Given the description of an element on the screen output the (x, y) to click on. 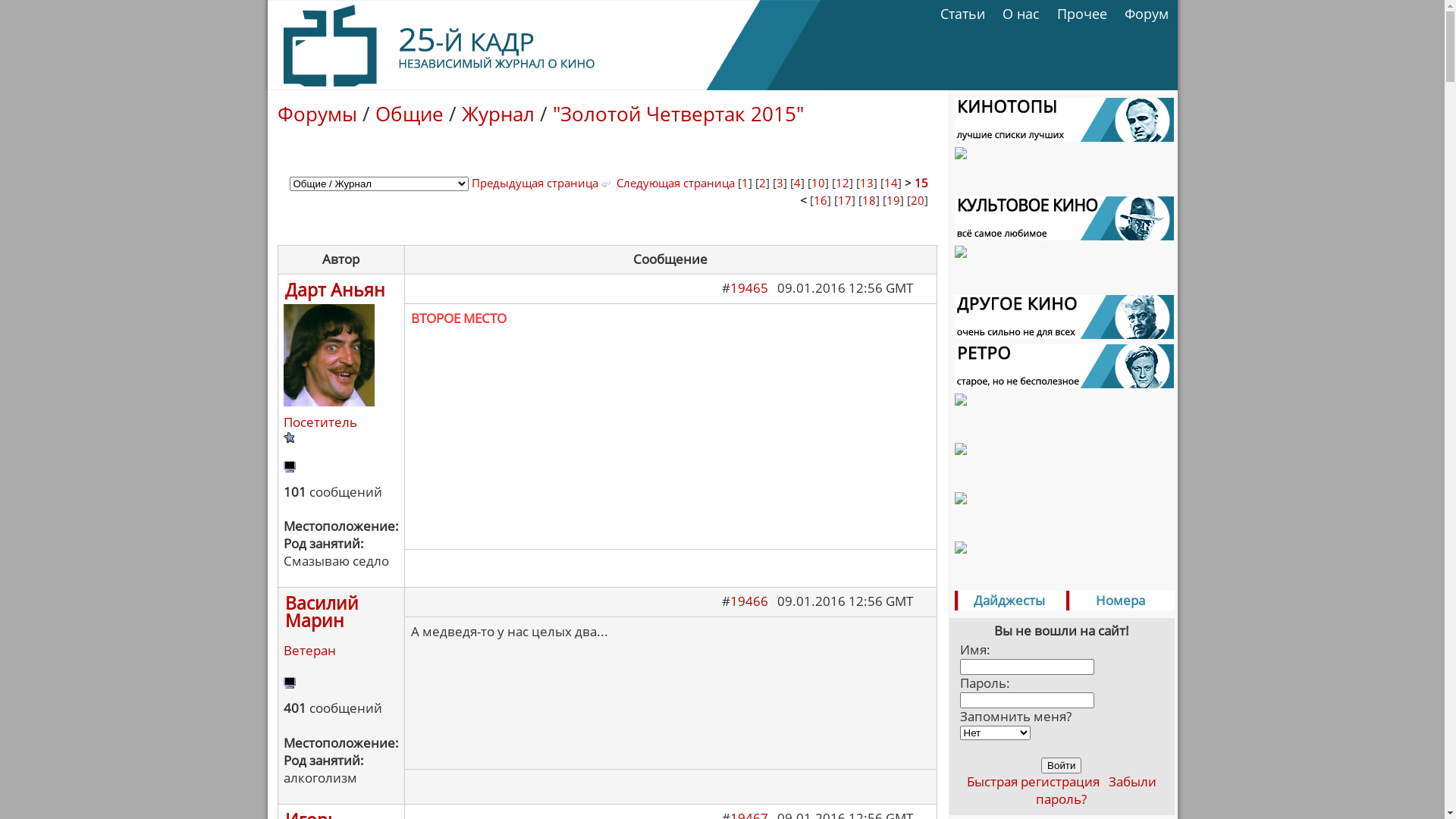
3 Element type: text (779, 182)
16 Element type: text (819, 199)
12 Element type: text (842, 182)
19465 Element type: text (748, 287)
2 Element type: text (761, 182)
20 Element type: text (916, 199)
19 Element type: text (892, 199)
4 Element type: text (796, 182)
13 Element type: text (866, 182)
18 Element type: text (868, 199)
1 Element type: text (744, 182)
15 Element type: text (921, 182)
17 Element type: text (843, 199)
10 Element type: text (818, 182)
19466 Element type: text (748, 600)
14 Element type: text (890, 182)
